Given the description of an element on the screen output the (x, y) to click on. 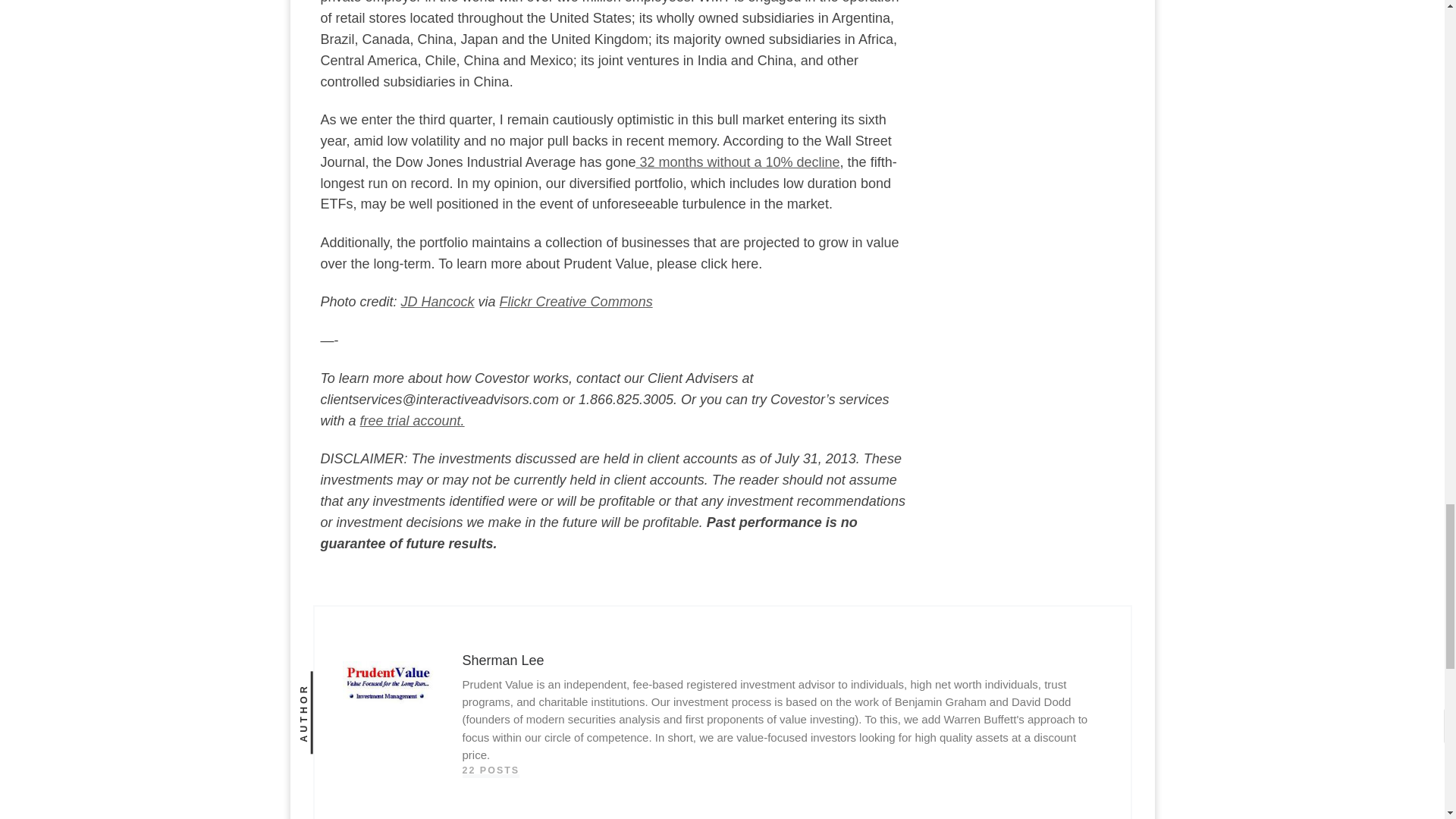
Flickr Creative Commons (575, 301)
22 POSTS (491, 770)
View all the posts of the author (491, 770)
JD Hancock (437, 301)
free trial account. (411, 420)
